Given the description of an element on the screen output the (x, y) to click on. 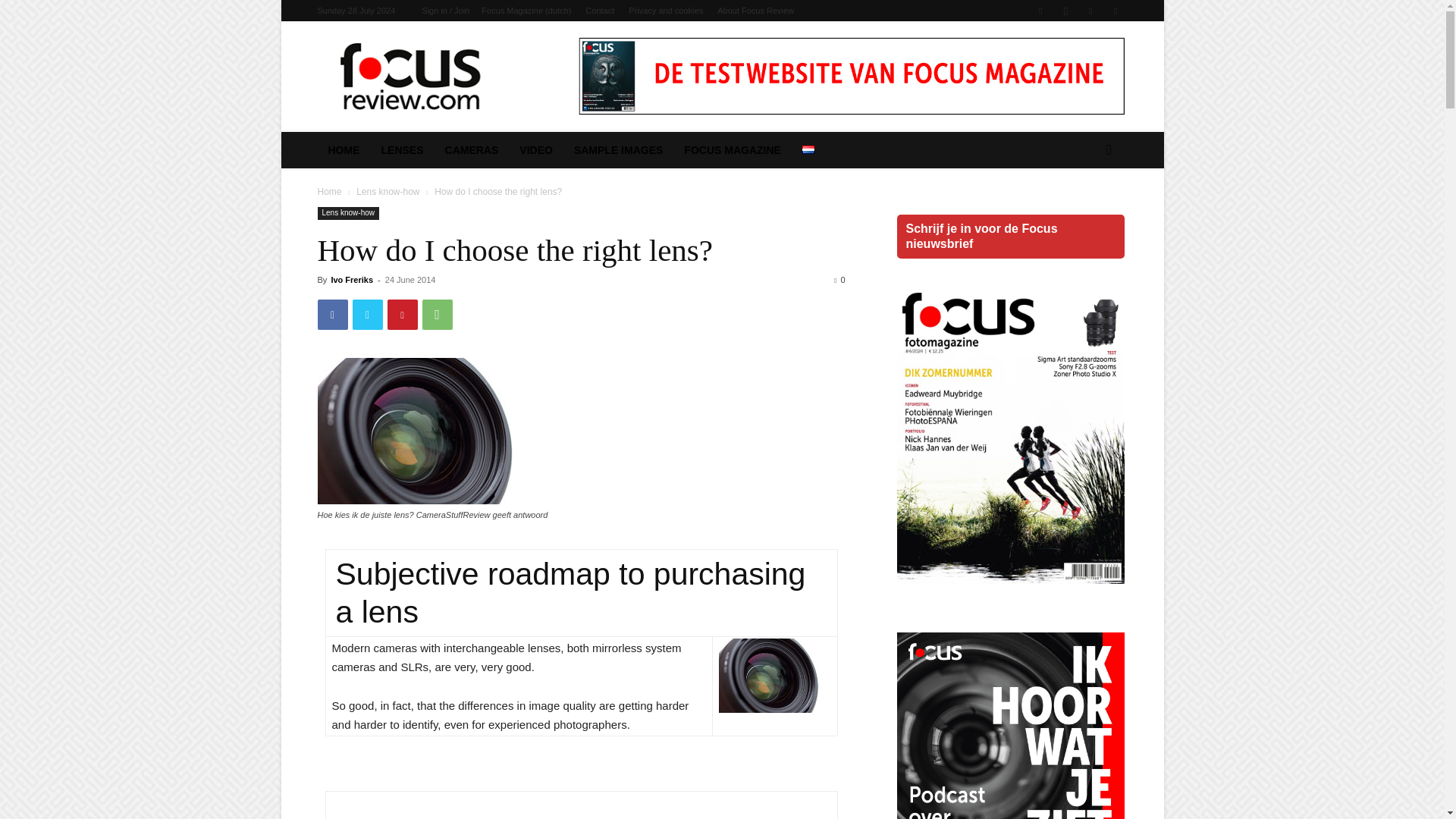
CAMERAS (471, 149)
Mail (1090, 10)
About Focus Review (755, 10)
Twitter (1114, 10)
LENSES (401, 149)
HOME (343, 149)
Contact (599, 10)
VIDEO (535, 149)
Search (1085, 210)
Facebook (1040, 10)
logo focus-review.com (446, 76)
Instagram (1065, 10)
